Given the description of an element on the screen output the (x, y) to click on. 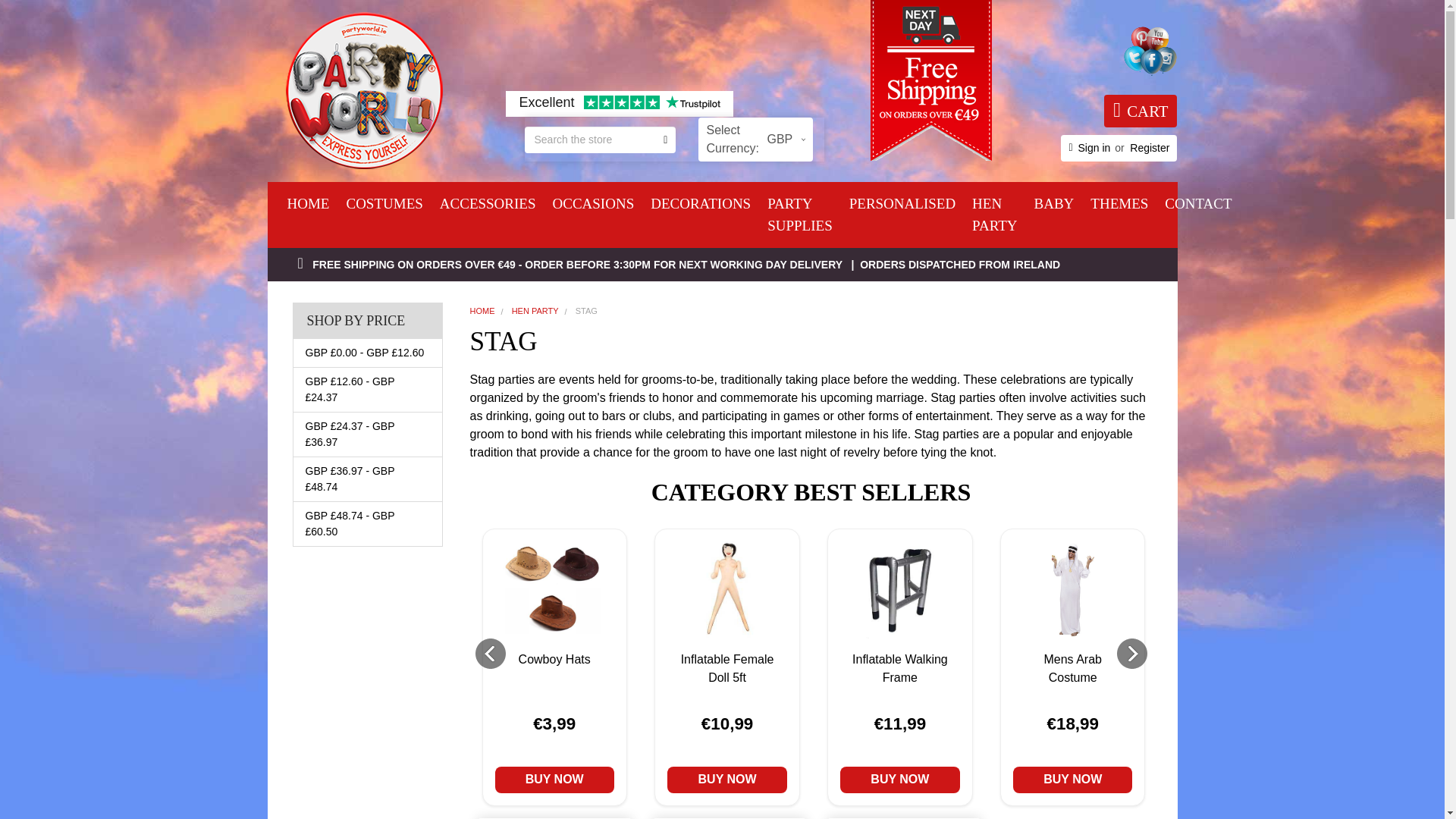
COSTUMES (383, 203)
PartyWorld (363, 90)
HOME (308, 203)
Sign in (1093, 148)
Cart (755, 139)
Search (1139, 111)
Search (660, 139)
CART (660, 139)
Register (1139, 111)
Customer reviews powered by Trustpilot (1149, 148)
